Given the description of an element on the screen output the (x, y) to click on. 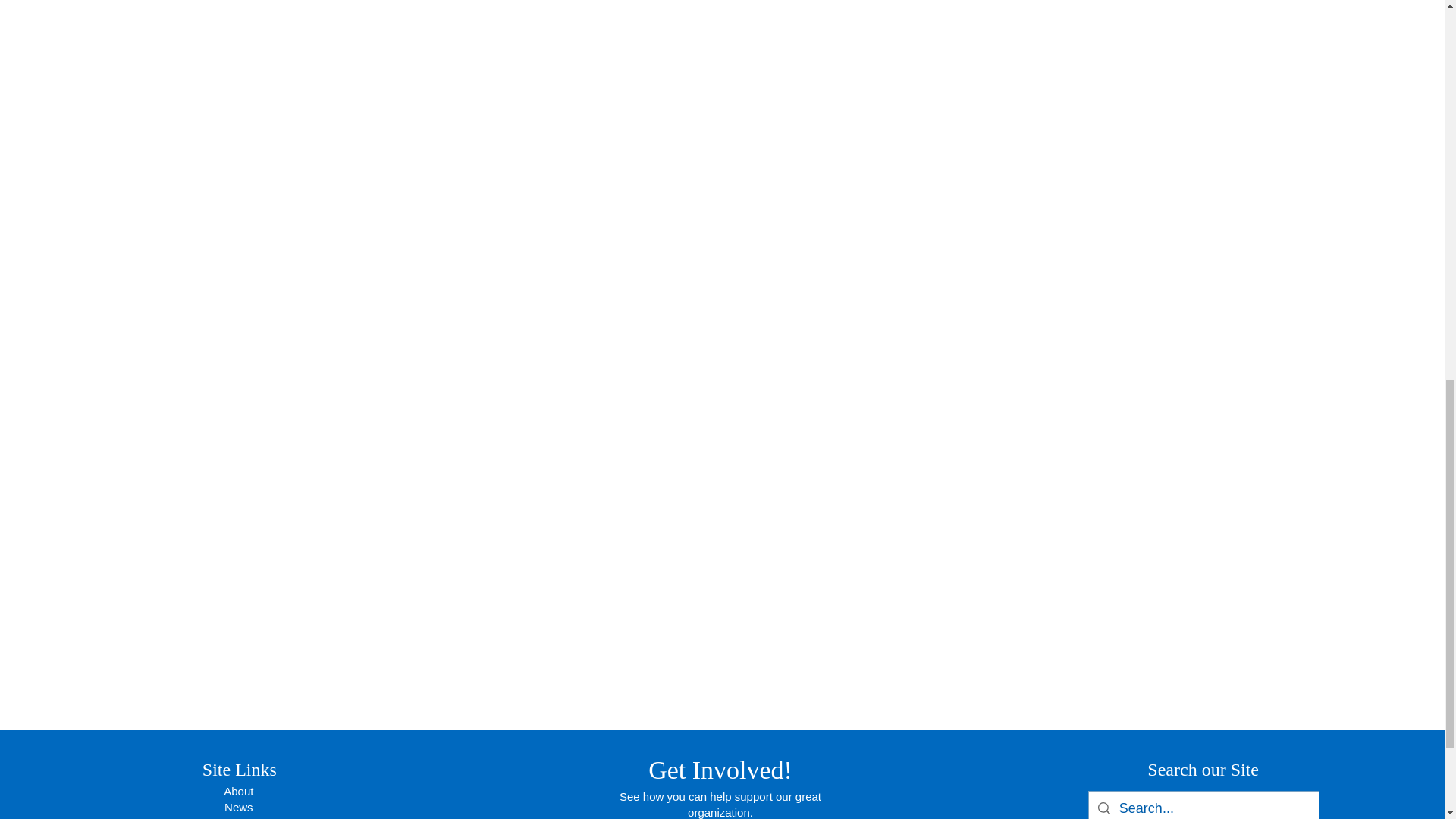
News (238, 807)
About (238, 790)
Resources (238, 817)
